Given the description of an element on the screen output the (x, y) to click on. 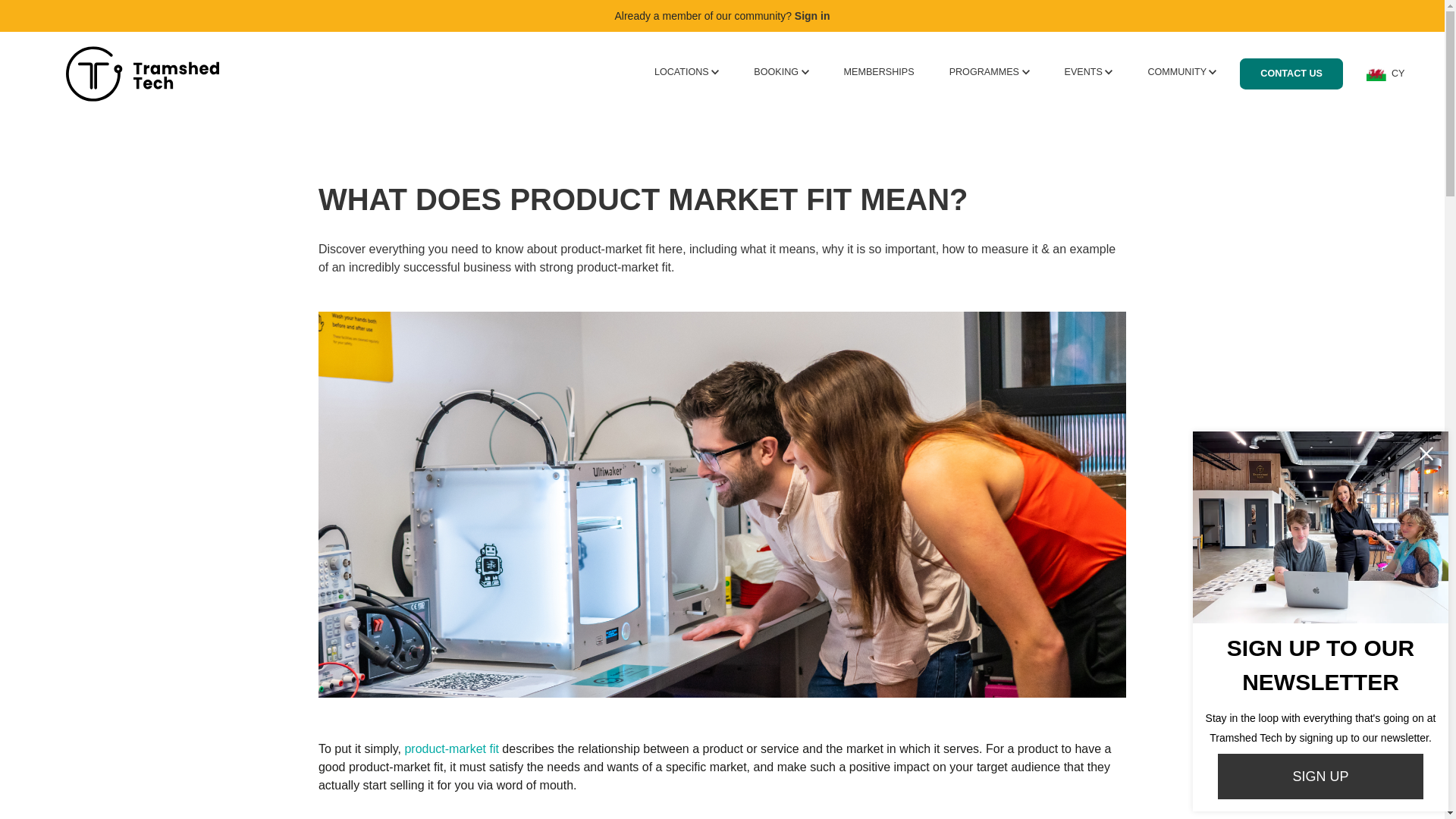
BOOKING (780, 71)
MEMBERSHIPS (879, 71)
PROGRAMMES (989, 71)
Sign in (811, 15)
LOCATIONS (686, 71)
WHAT DOES PRODUCT MARKET FIT MEAN? (721, 199)
